Given the description of an element on the screen output the (x, y) to click on. 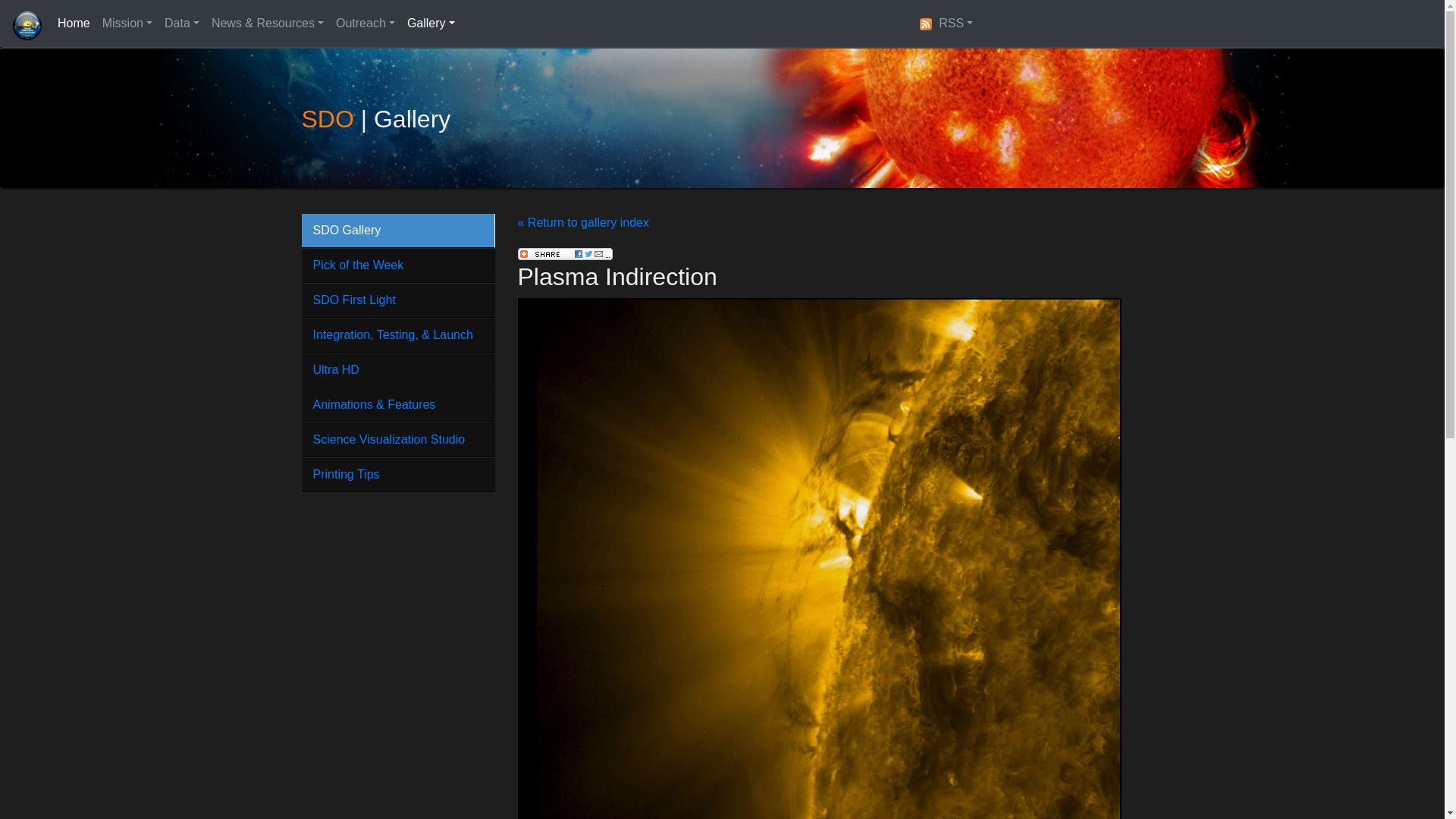
Mission (127, 23)
Data (181, 23)
Outreach (365, 23)
